Given the description of an element on the screen output the (x, y) to click on. 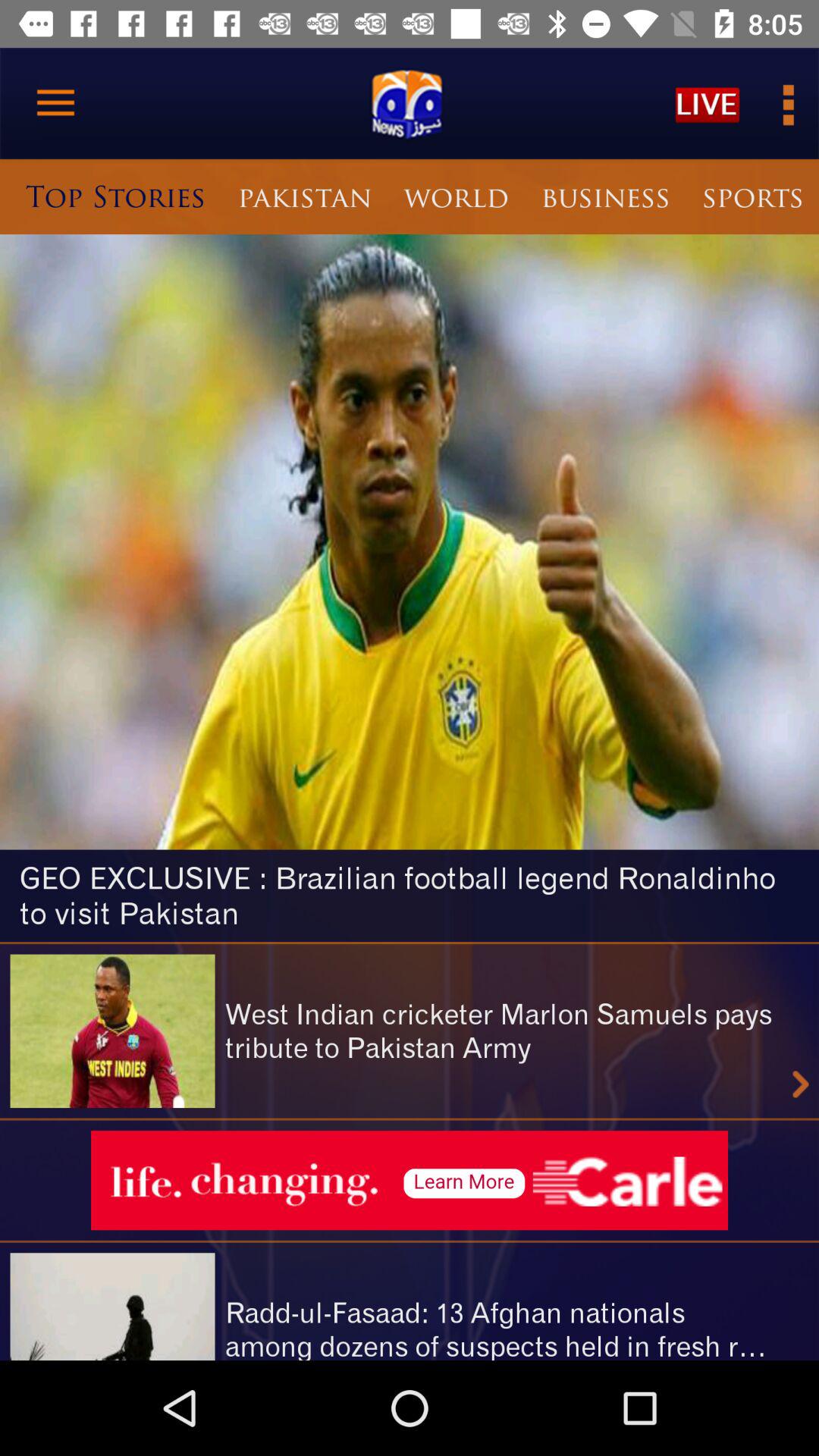
see advertisement (409, 1180)
